Given the description of an element on the screen output the (x, y) to click on. 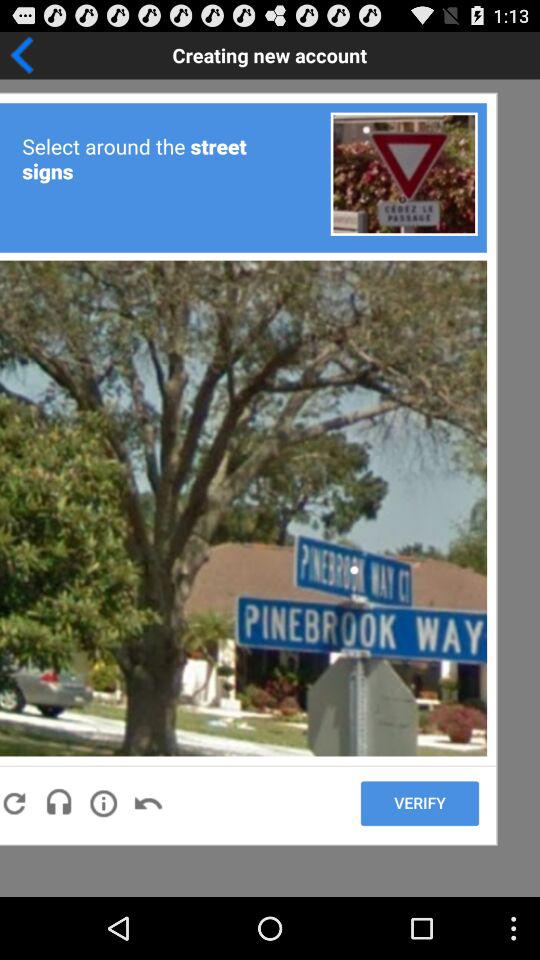
go back (84, 55)
